Given the description of an element on the screen output the (x, y) to click on. 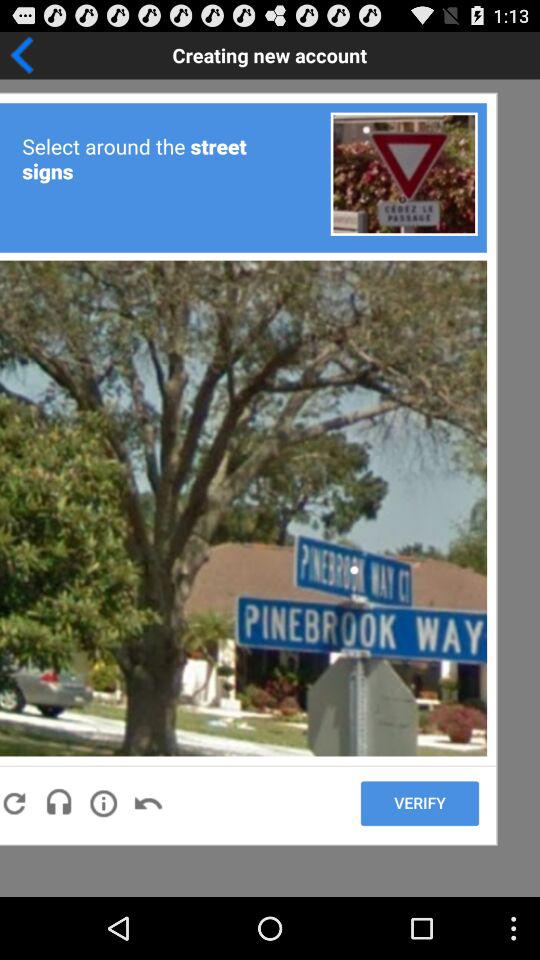
go back (84, 55)
